Given the description of an element on the screen output the (x, y) to click on. 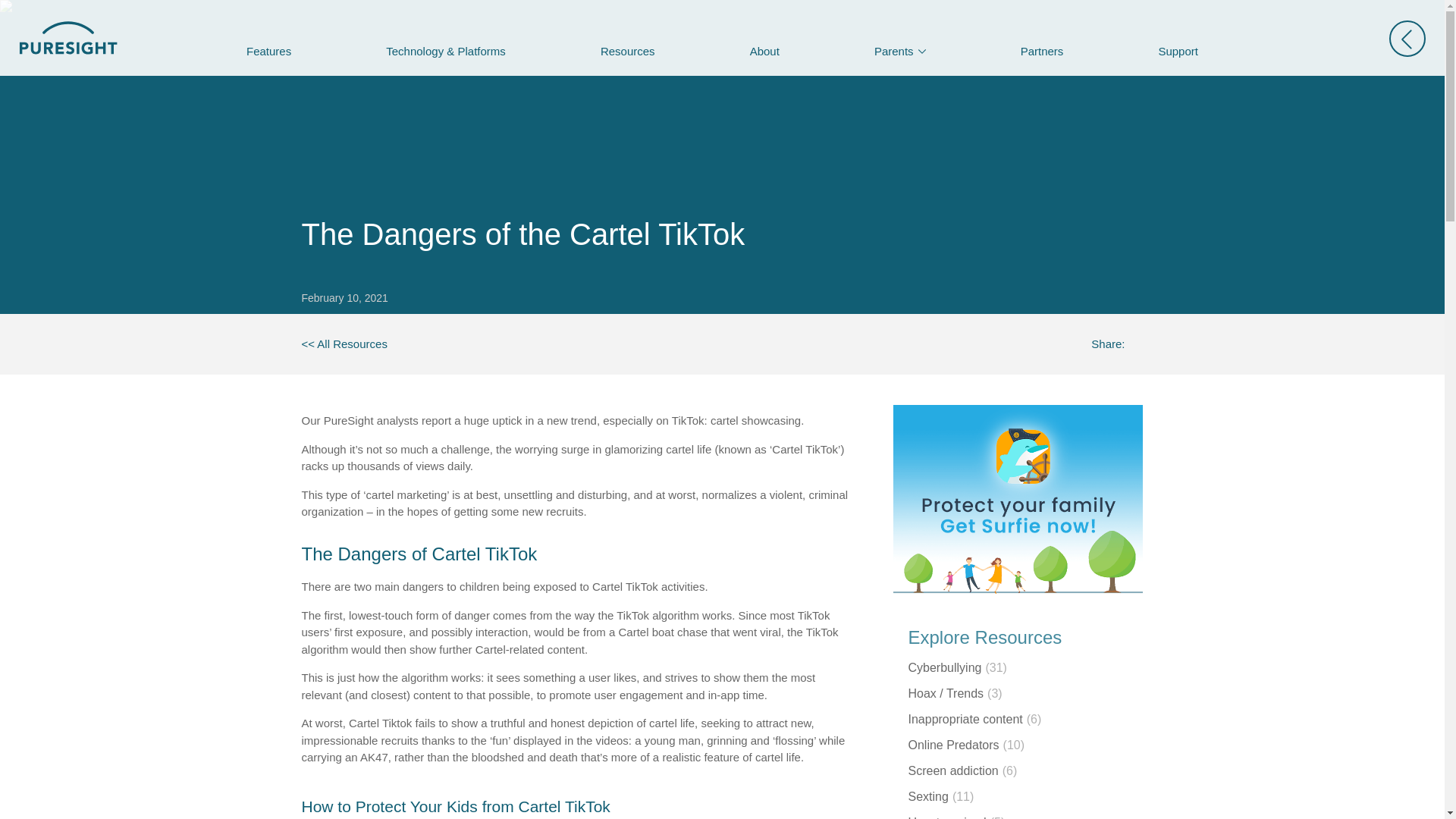
PureSight (344, 343)
About (764, 50)
Partners (1042, 50)
Parents (899, 50)
Features (268, 50)
Resources (627, 50)
side nav toggle (1407, 38)
Support (1177, 50)
